Given the description of an element on the screen output the (x, y) to click on. 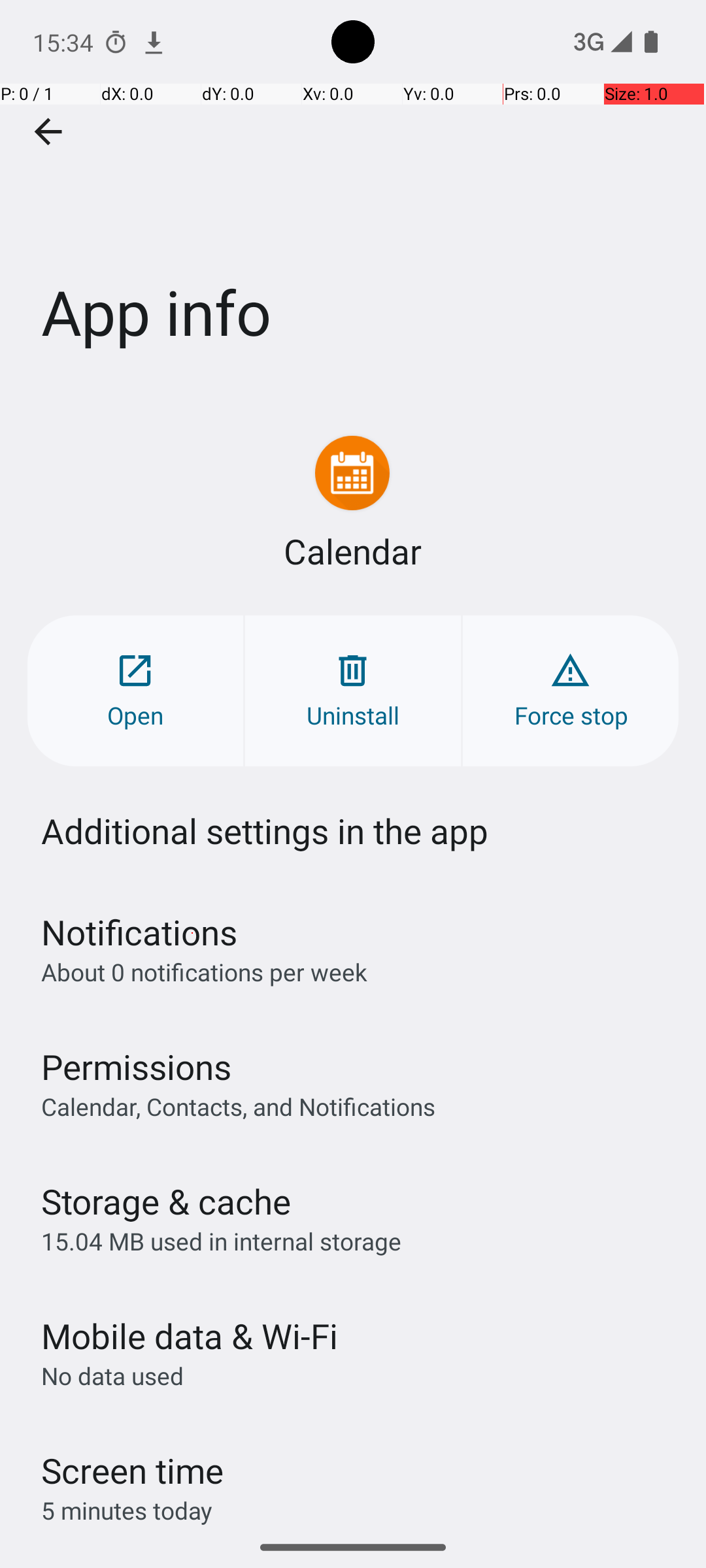
Calendar, Contacts, and Notifications Element type: android.widget.TextView (238, 1106)
15.04 MB used in internal storage Element type: android.widget.TextView (221, 1240)
5 minutes today Element type: android.widget.TextView (127, 1509)
